Given the description of an element on the screen output the (x, y) to click on. 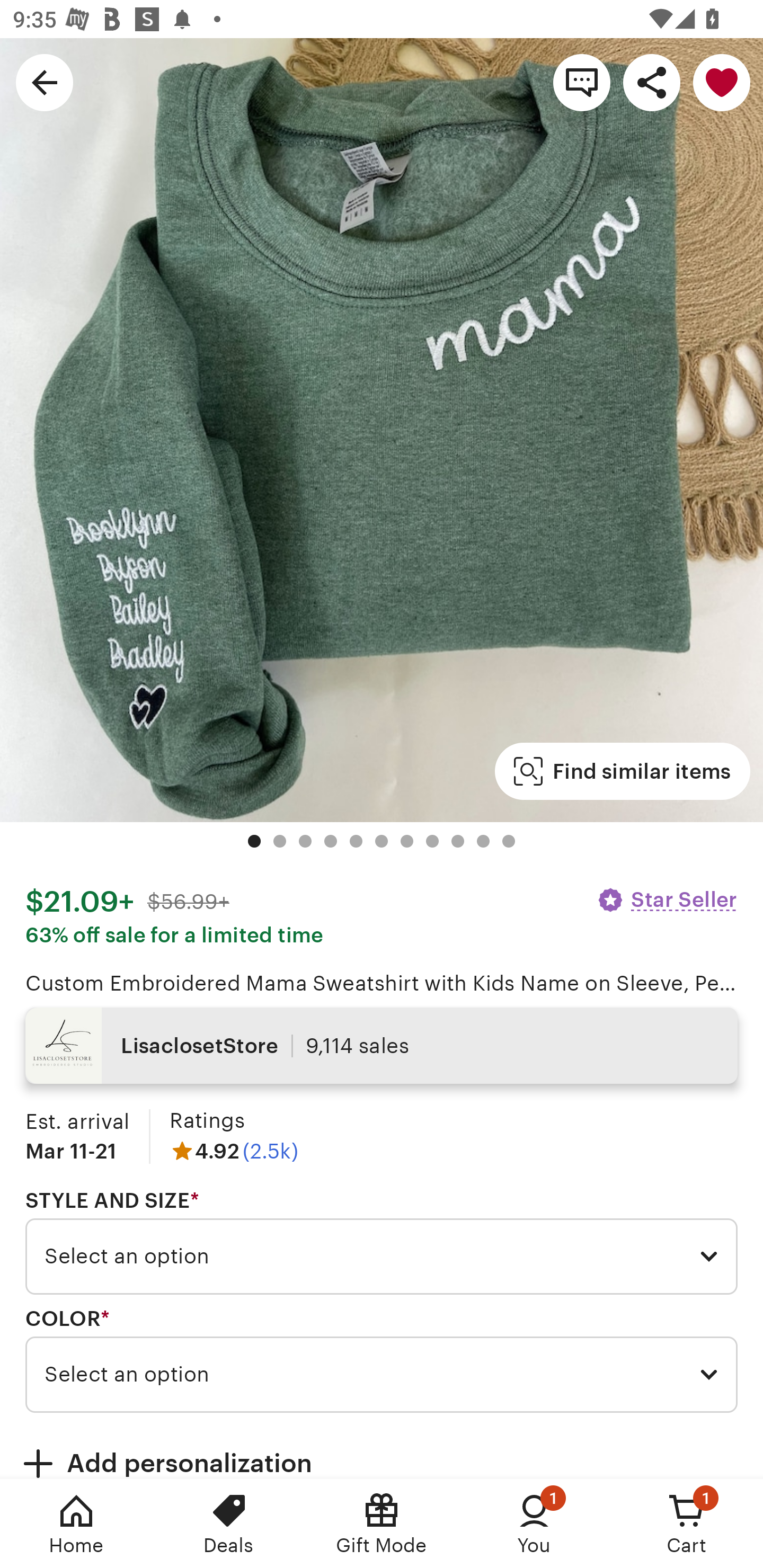
Navigate up (44, 81)
Contact shop (581, 81)
Share (651, 81)
Find similar items (622, 771)
Star Seller (666, 899)
LisaclosetStore 9,114 sales (381, 1045)
Ratings (206, 1120)
4.92 (2.5k) (233, 1150)
STYLE AND SIZE * Required Select an option (381, 1241)
Select an option (381, 1256)
COLOR * Required Select an option (381, 1359)
Select an option (381, 1373)
Add personalization Add personalization Required (381, 1451)
Home (76, 1523)
Gift Mode (381, 1523)
You, 1 new notification You (533, 1523)
Cart, 1 new notification Cart (686, 1523)
